Given the description of an element on the screen output the (x, y) to click on. 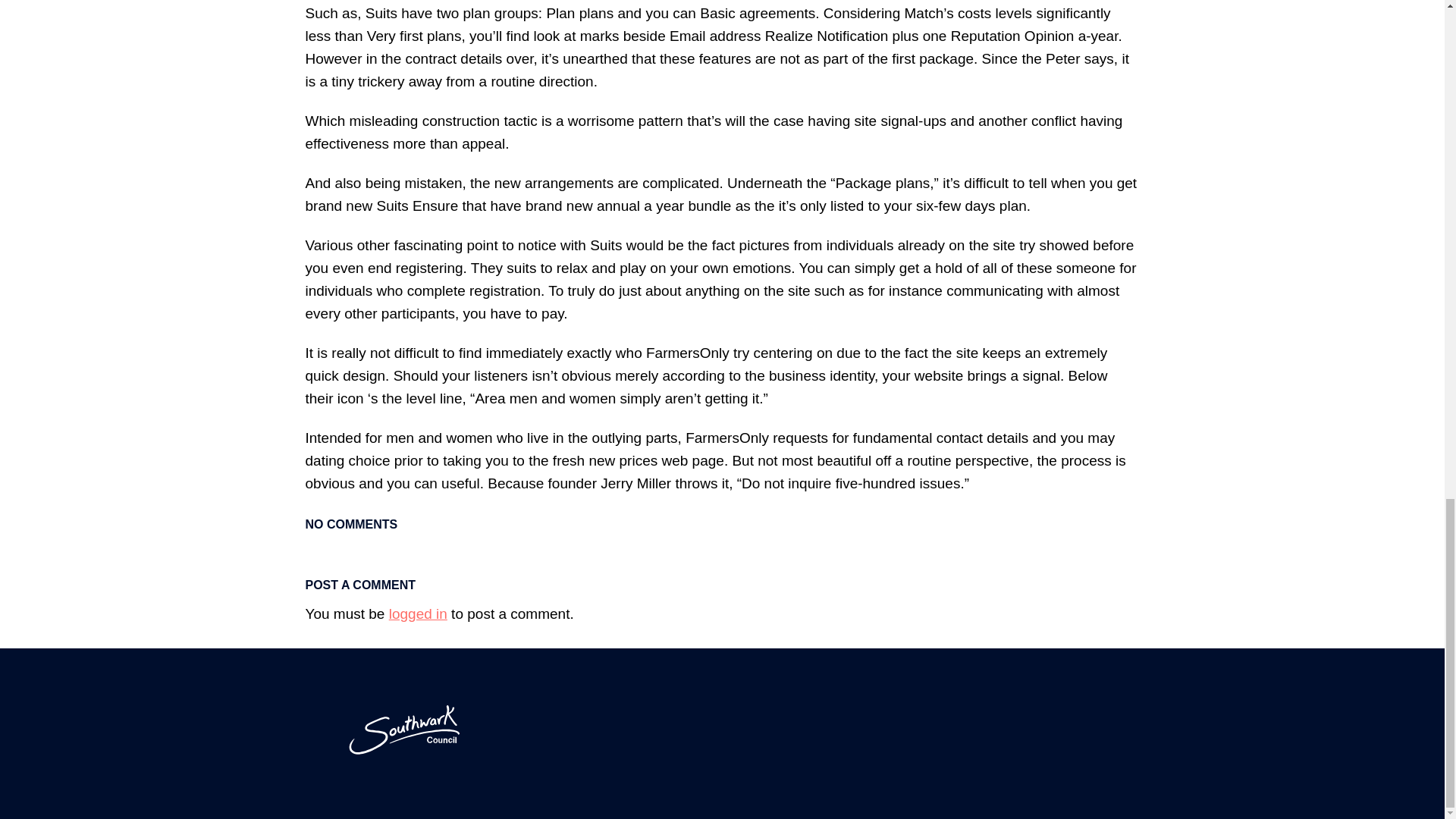
logged in (417, 613)
